Given the description of an element on the screen output the (x, y) to click on. 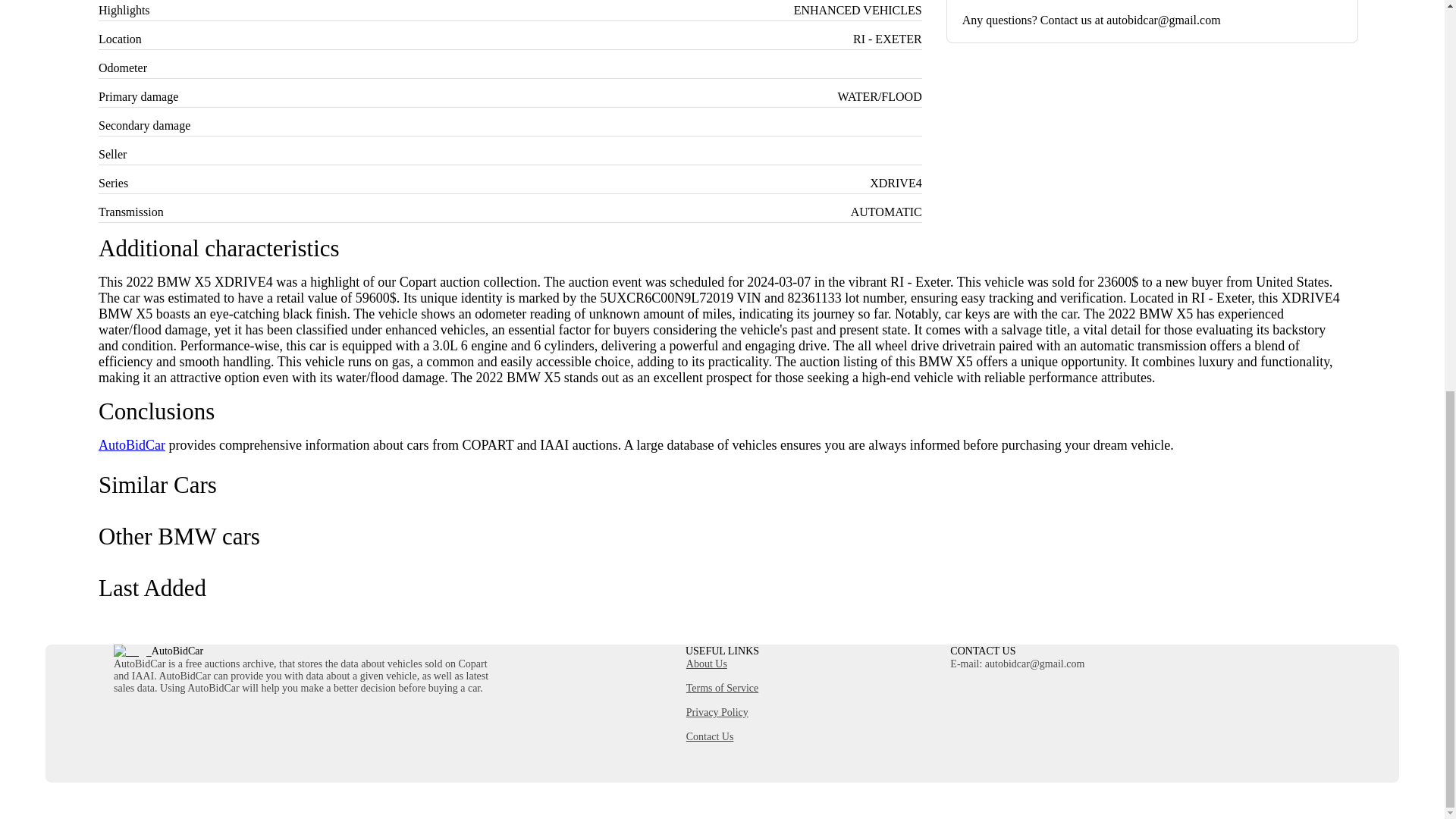
Contact Us (721, 736)
AutoBidCar (132, 444)
Privacy Policy (721, 712)
Terms of Service (721, 688)
About Us (721, 664)
